Given the description of an element on the screen output the (x, y) to click on. 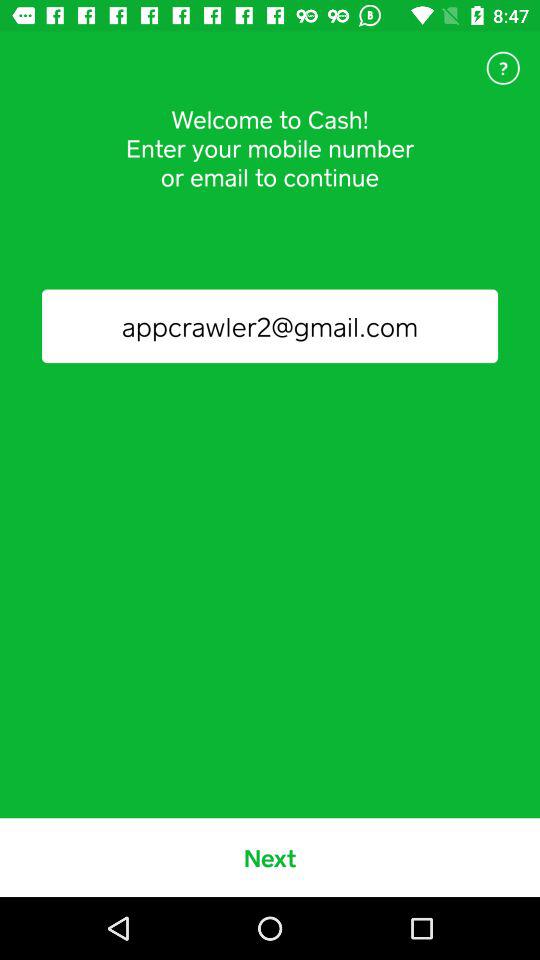
select item below welcome to cash item (269, 326)
